Given the description of an element on the screen output the (x, y) to click on. 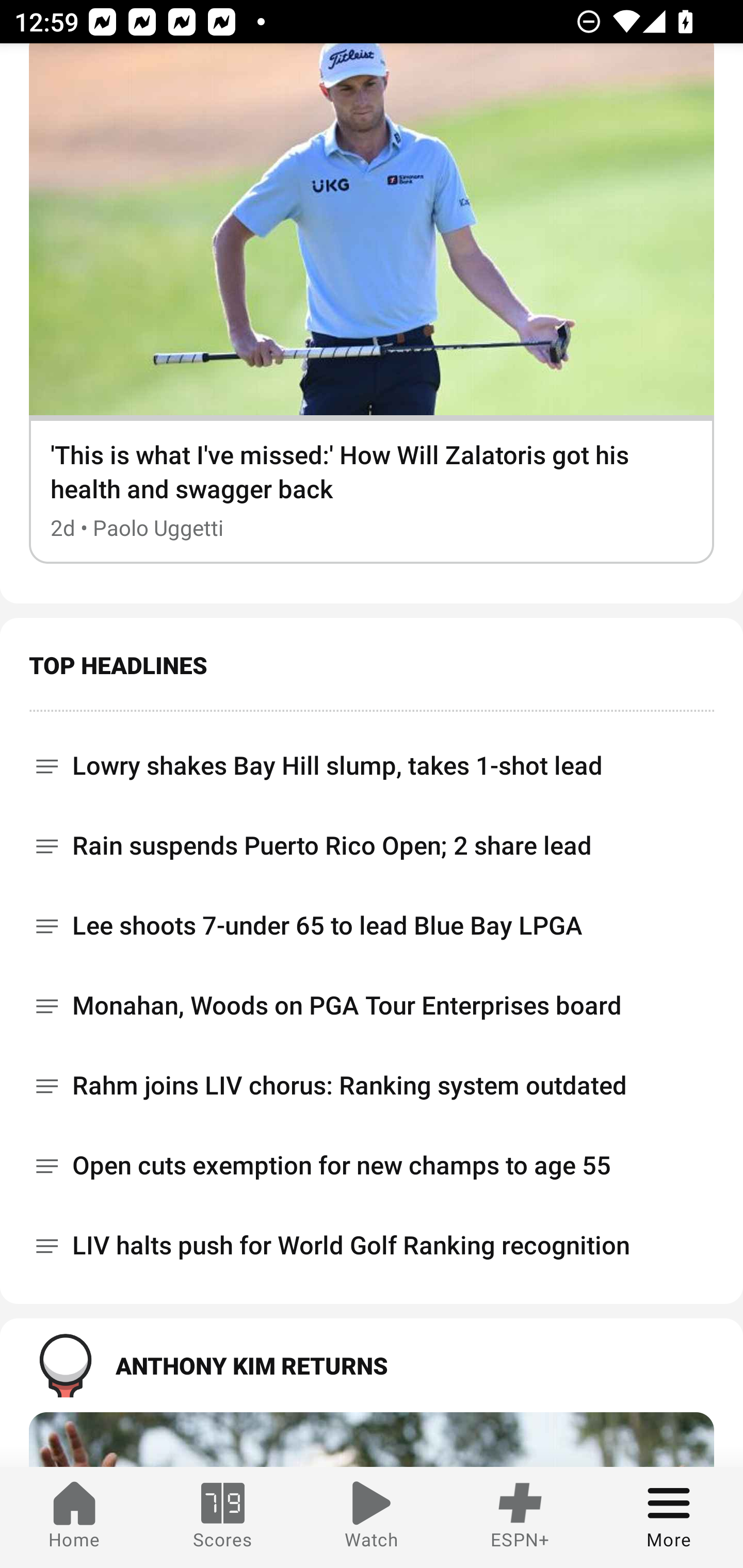
 Lowry shakes Bay Hill slump, takes 1-shot lead (371, 758)
 Rain suspends Puerto Rico Open; 2 share lead (371, 845)
 Lee shoots 7-under 65 to lead Blue Bay LPGA (371, 925)
 Monahan, Woods on PGA Tour Enterprises board (371, 1005)
 Rahm joins LIV chorus: Ranking system outdated (371, 1085)
 Open cuts exemption for new champs to age 55 (371, 1165)
ANTHONY KIM RETURNS (371, 1365)
Home (74, 1517)
Scores (222, 1517)
Watch (371, 1517)
ESPN+ (519, 1517)
